Given the description of an element on the screen output the (x, y) to click on. 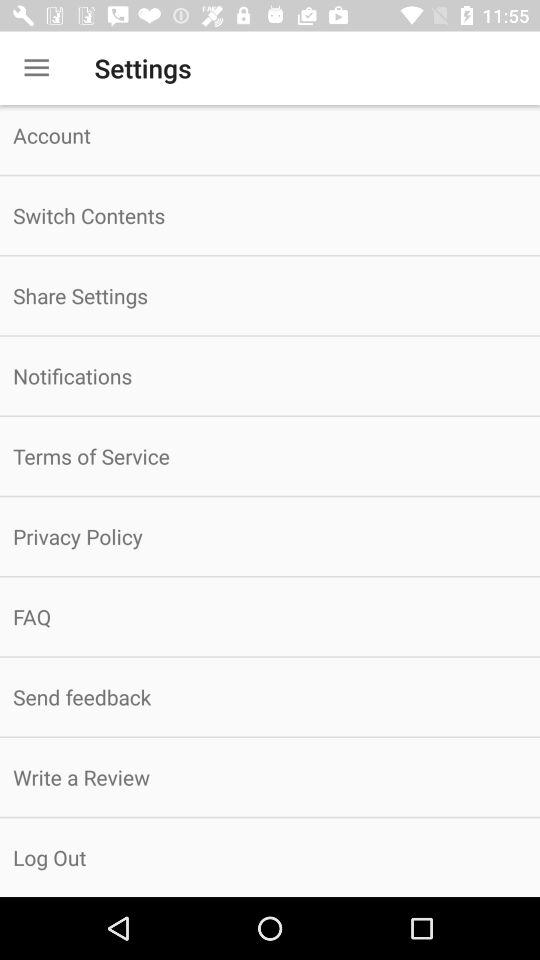
turn off icon below the privacy policy item (270, 616)
